Given the description of an element on the screen output the (x, y) to click on. 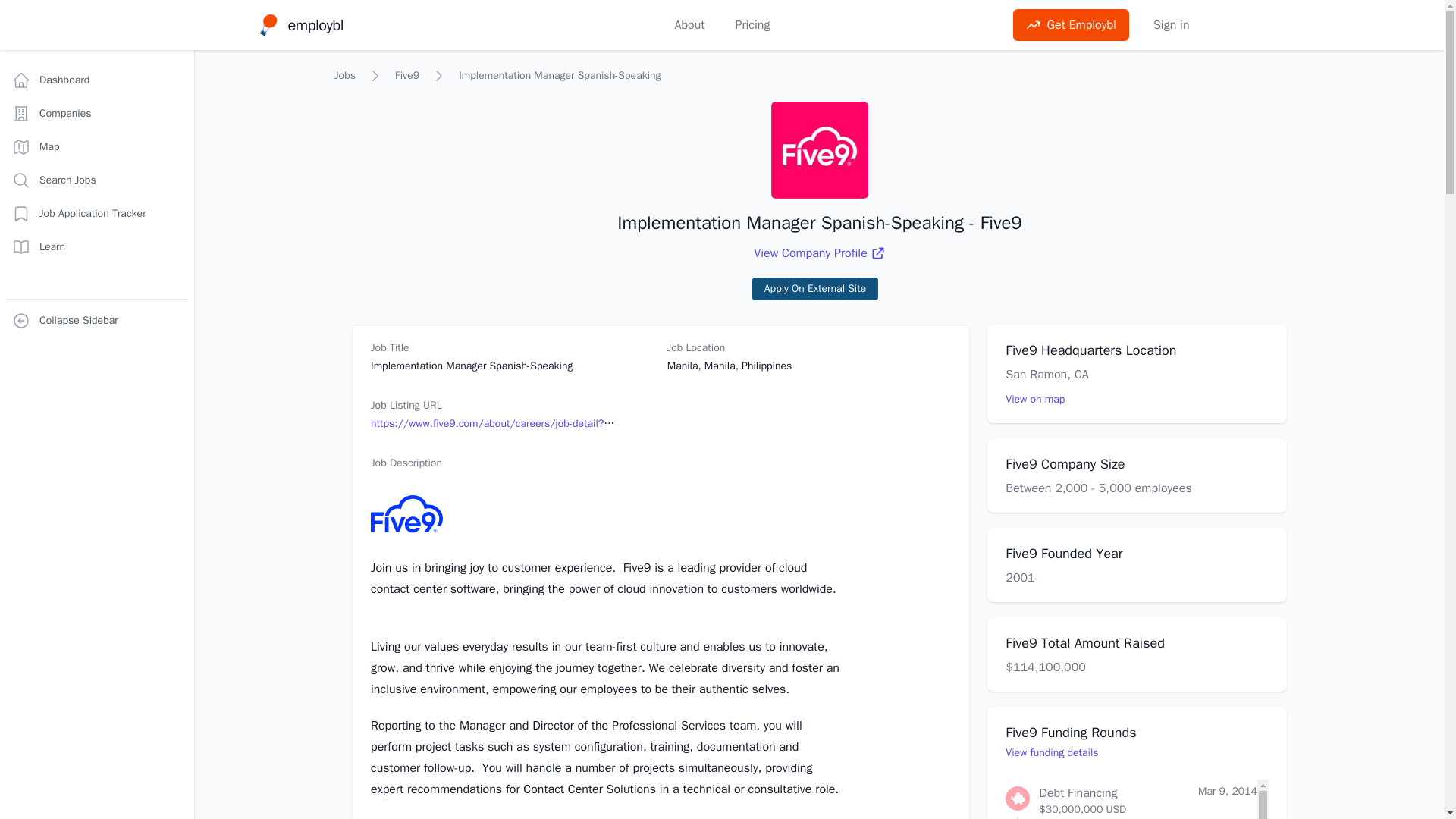
Five9 (406, 75)
View Company Profile (819, 253)
About (689, 24)
Job Application Tracker (96, 214)
Pricing (752, 24)
Implementation Manager Spanish-Speaking (298, 25)
Sign in (559, 75)
Dashboard (1171, 24)
Apply On External Site (344, 75)
Companies (96, 80)
Learn (814, 288)
Get Employbl (96, 113)
Search Jobs (96, 246)
